Given the description of an element on the screen output the (x, y) to click on. 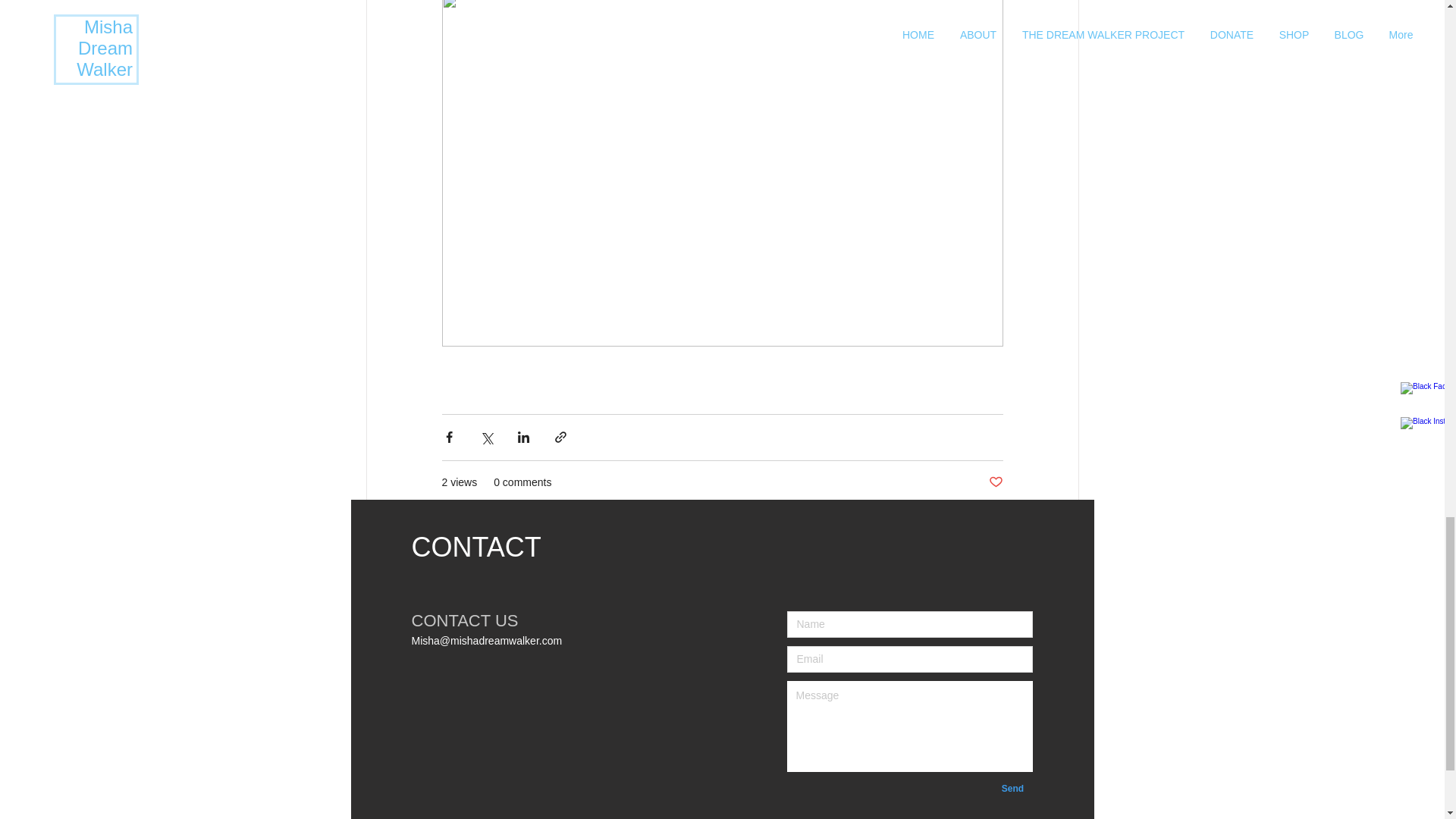
2 (691, 801)
Post not marked as liked (800, 801)
See All (558, 801)
Post not marked as liked (1061, 565)
0 (995, 482)
Send (435, 801)
Things I wish I knew earlier about life and Arthrogryposis (1011, 789)
We all have different life experiences and necessities (476, 748)
0 (967, 748)
5 tips for living with Arthrogryposis (931, 801)
